Given the description of an element on the screen output the (x, y) to click on. 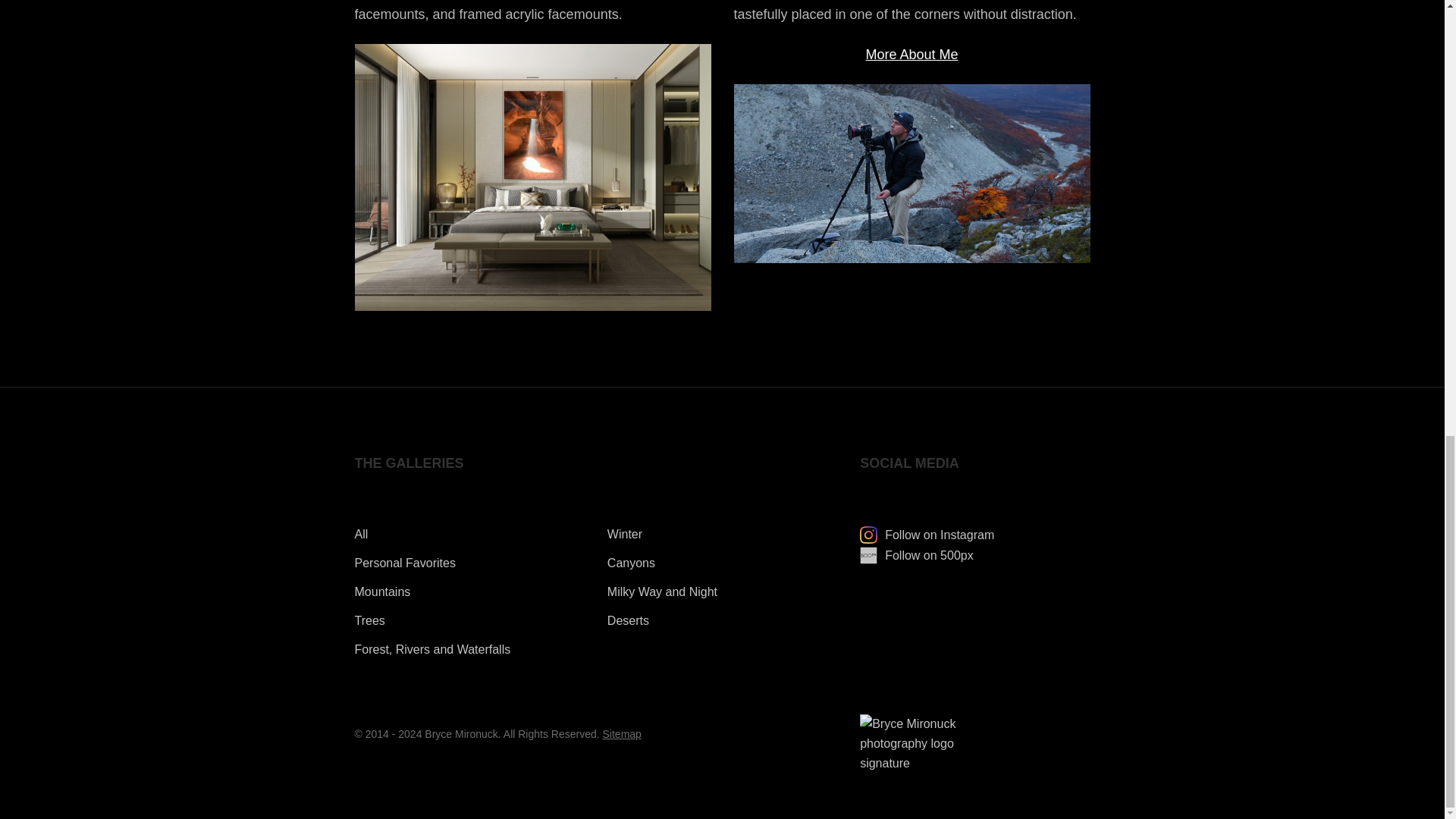
Follow on Instagram (927, 534)
Personal Favorites (405, 562)
Milky Way and Night (662, 591)
Deserts (628, 620)
All (361, 533)
More About Me (911, 54)
Forest, Rivers and Waterfalls (433, 649)
Sitemap (622, 734)
Follow on 500px (917, 554)
Winter (624, 533)
Trees (370, 620)
Mountains (382, 591)
Canyons (631, 562)
